Given the description of an element on the screen output the (x, y) to click on. 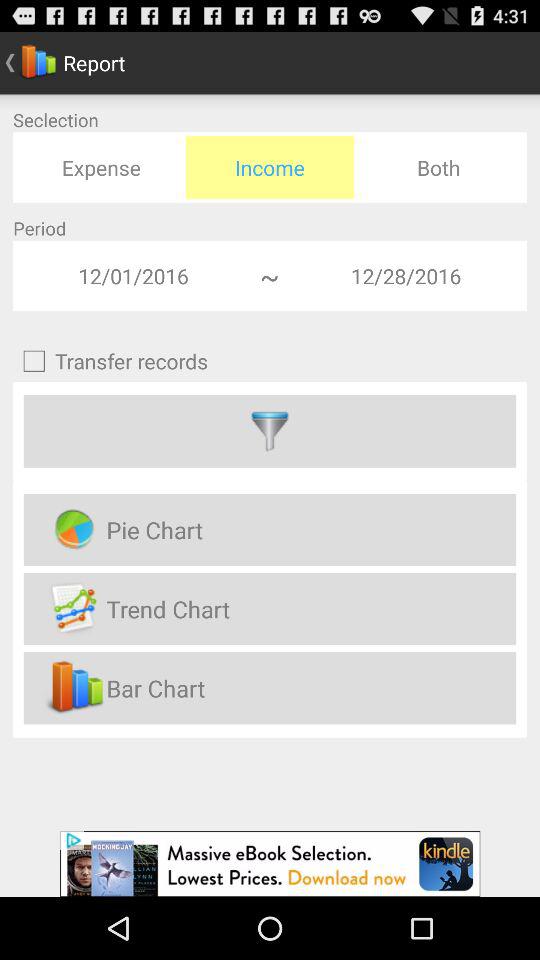
advertisement banner (270, 864)
